Given the description of an element on the screen output the (x, y) to click on. 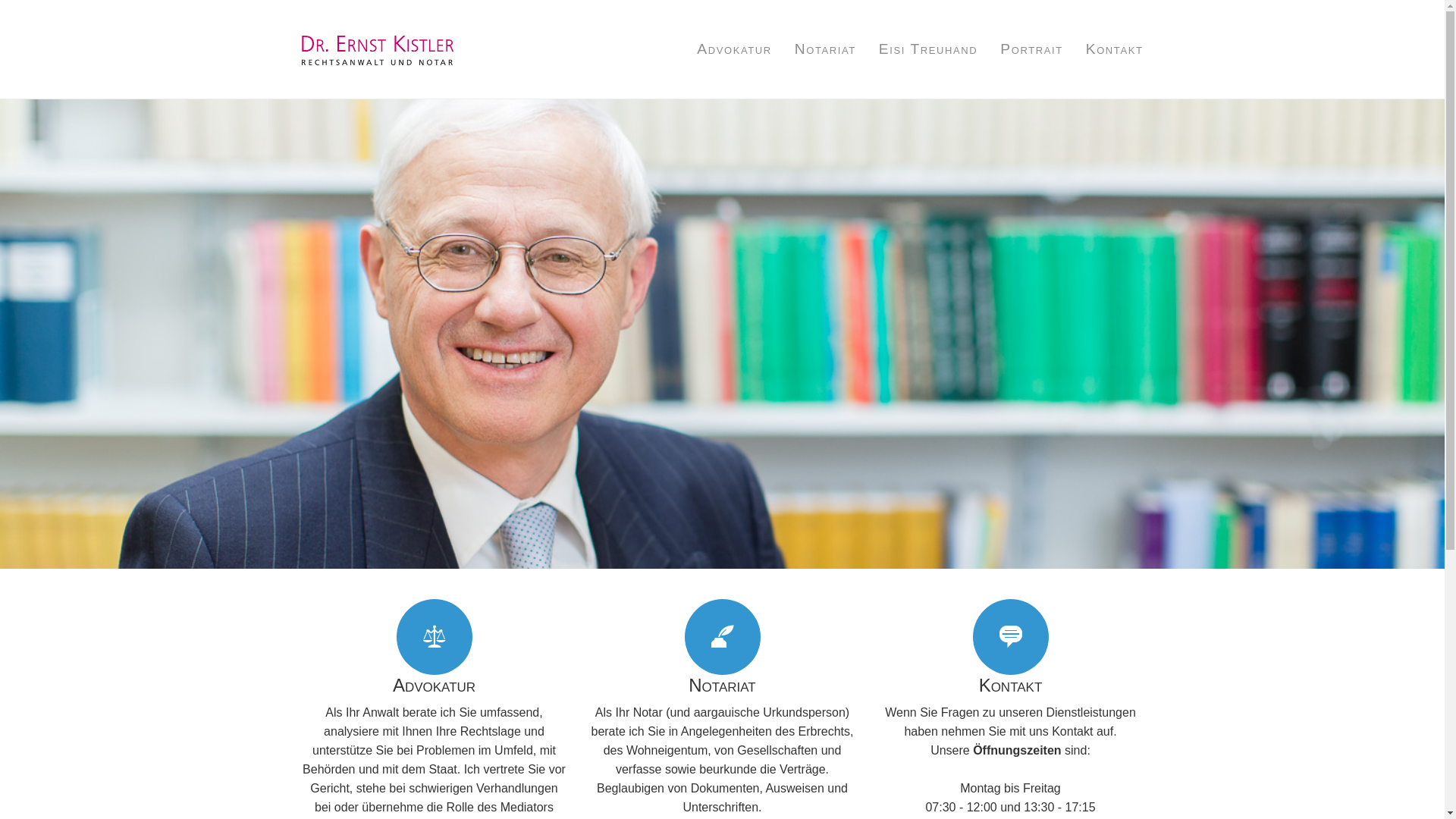
Advokatur Element type: text (733, 49)
Portrait Element type: text (1030, 49)
Eisi Treuhand Element type: text (927, 49)
Notariat Element type: text (825, 49)
Kontakt Element type: text (1108, 49)
